Given the description of an element on the screen output the (x, y) to click on. 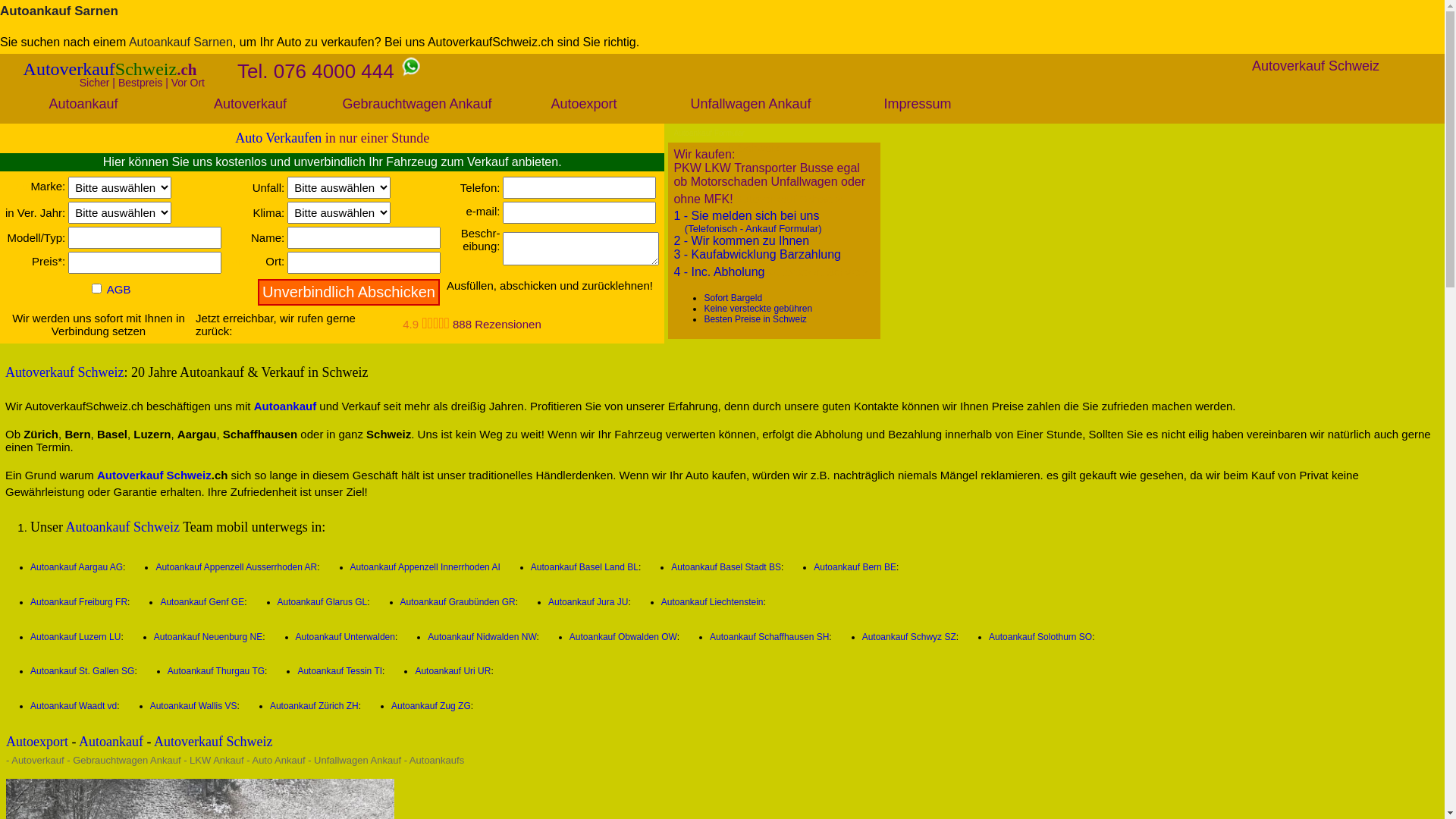
Autoankauf Sarnen Element type: text (180, 41)
Autoankauf Sarnen Element type: text (59, 10)
